Given the description of an element on the screen output the (x, y) to click on. 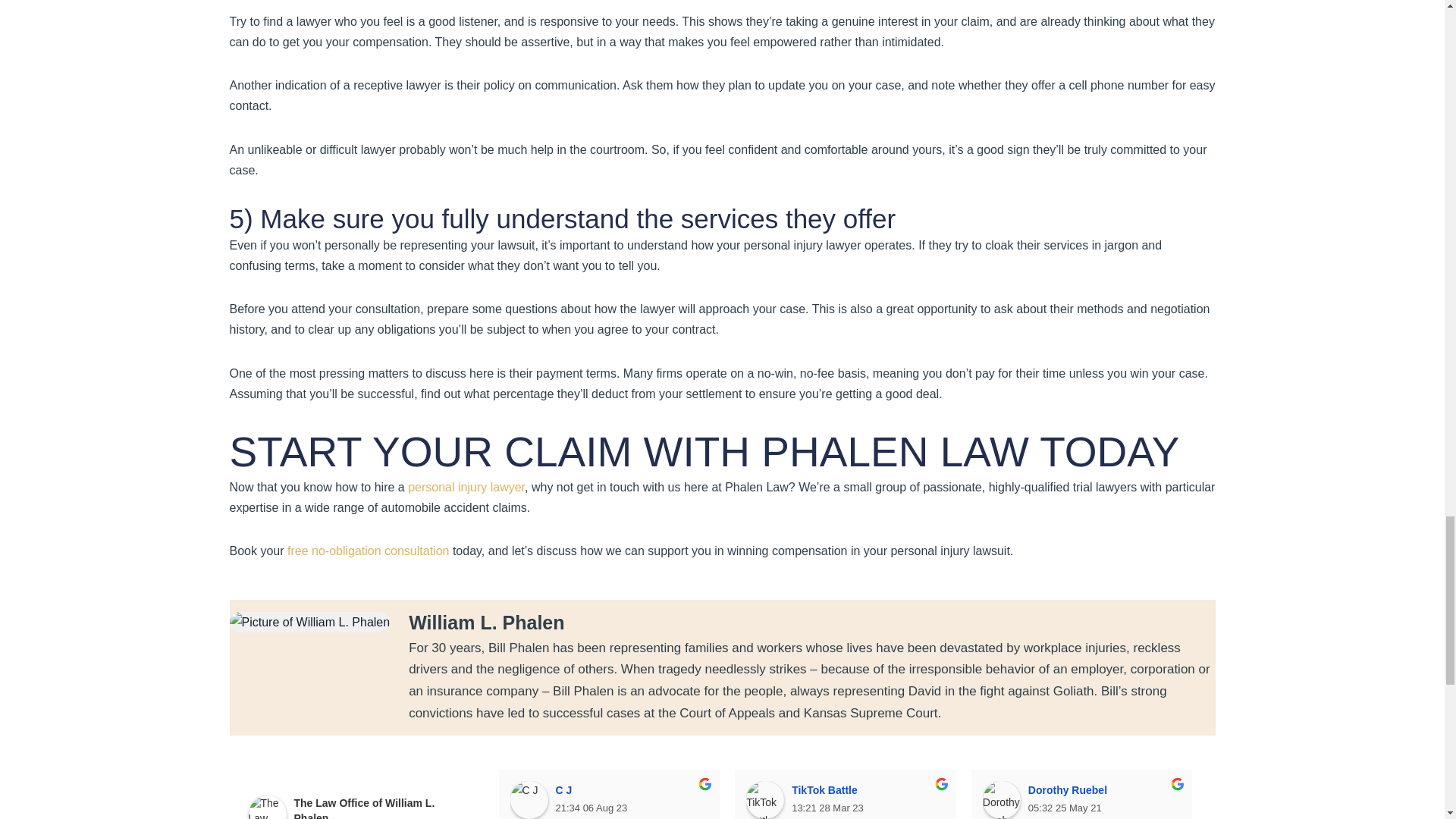
TikTok Battle (764, 800)
The Law Office of William L. Phalen (267, 807)
Dorothy Ruebel (1001, 800)
C J (528, 800)
Luke Emmot (1237, 800)
